Given the description of an element on the screen output the (x, y) to click on. 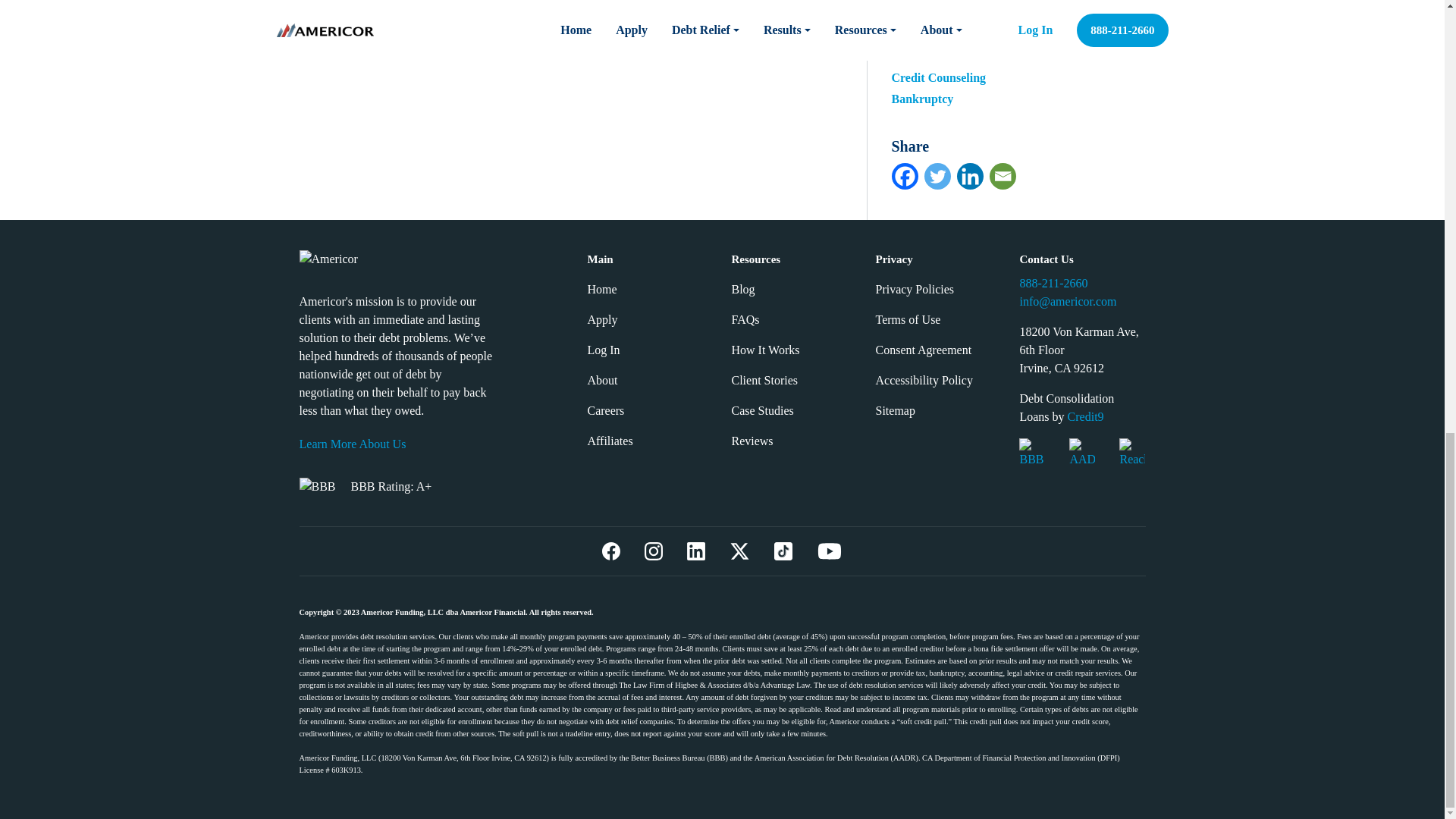
Debt Settlement (933, 56)
Debt Relief Solutions (946, 13)
Email (1001, 175)
Facebook (904, 175)
Twitter (936, 175)
Linkedin (970, 175)
Credit Counseling (939, 77)
Debt Consolidation (941, 34)
Bankruptcy (922, 98)
